Given the description of an element on the screen output the (x, y) to click on. 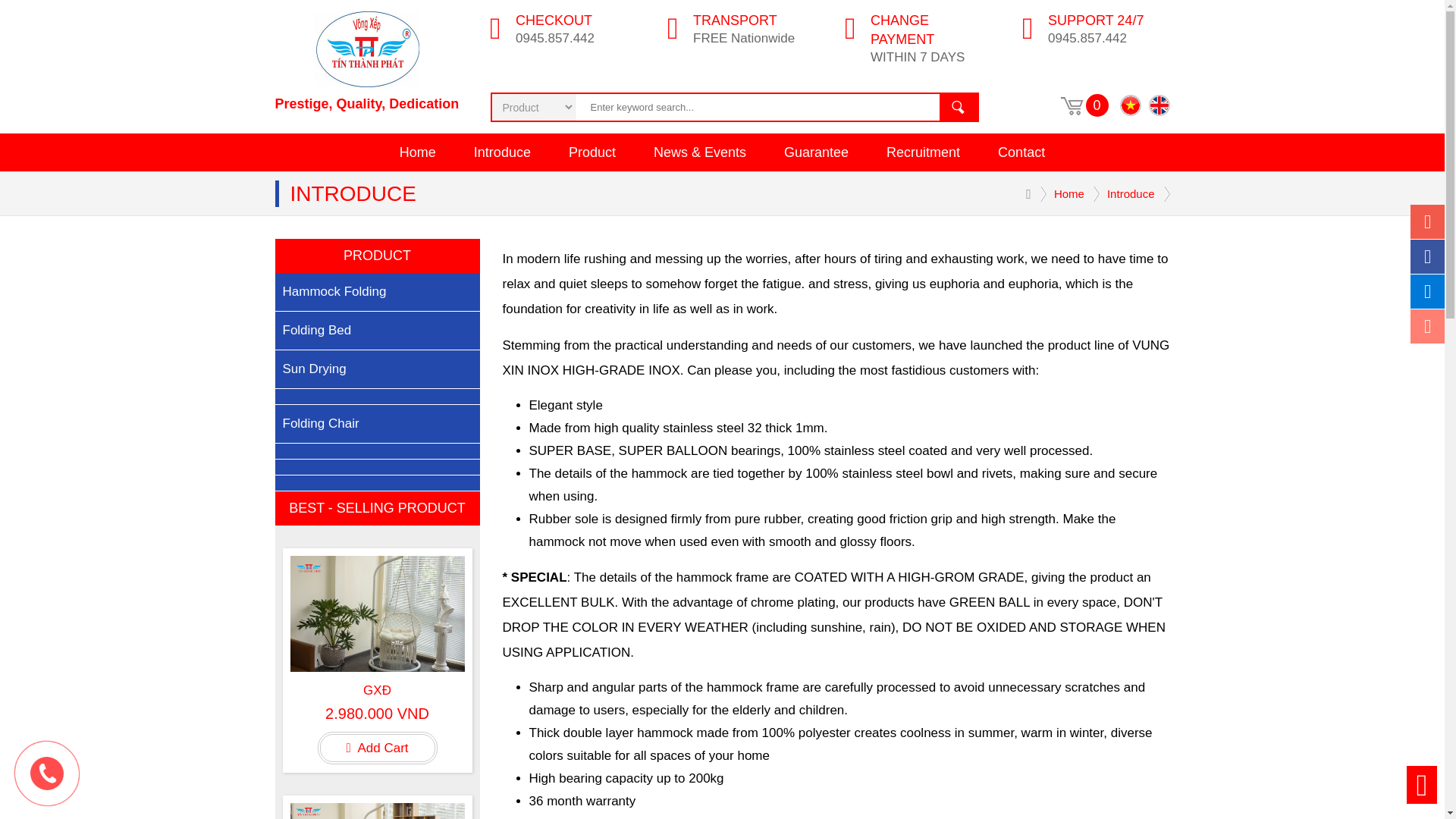
0 (1097, 105)
Folding bed (377, 331)
Sun drying (377, 369)
folding chair (377, 423)
Home (417, 152)
Product (592, 152)
Hammock folding (377, 292)
Introduce (502, 152)
